Given the description of an element on the screen output the (x, y) to click on. 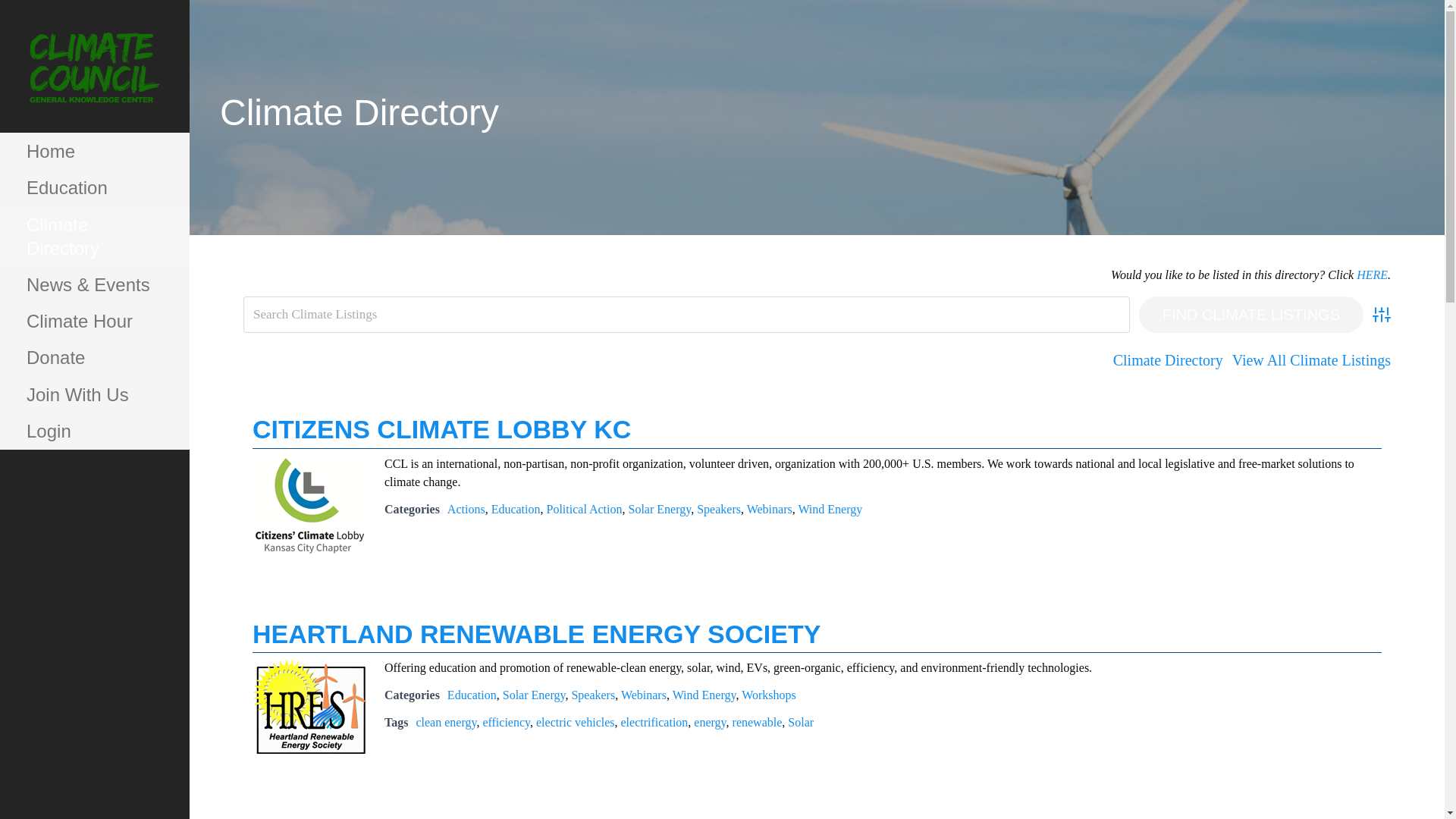
Climate Hour (94, 321)
Webinars (643, 694)
Solar Energy (534, 694)
energy (709, 721)
Join With Us (94, 393)
Find Climate Listings (1250, 314)
Quick search keywords (686, 314)
CITIZENS CLIMATE LOBBY KC (440, 428)
Solar Energy (659, 508)
Wind Energy (829, 508)
